Given the description of an element on the screen output the (x, y) to click on. 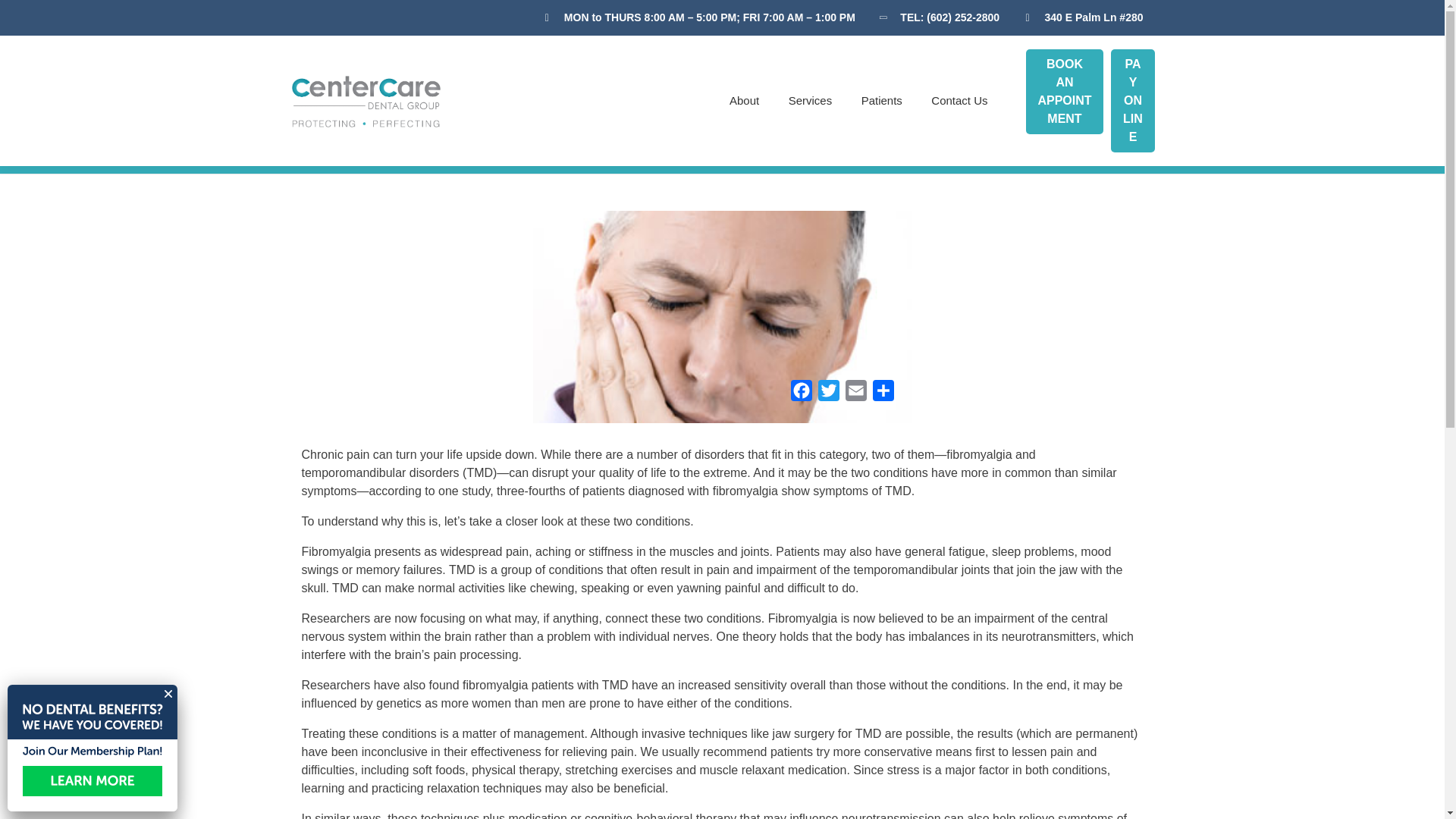
Patients (881, 100)
Opens in new tab (827, 393)
Contact Us (952, 100)
Services (810, 100)
About (743, 100)
Opens in new tab (855, 393)
Facebook (800, 393)
Twitter (827, 393)
Opens in new tab (882, 393)
BOOK AN APPOINTMENT (1064, 91)
